Given the description of an element on the screen output the (x, y) to click on. 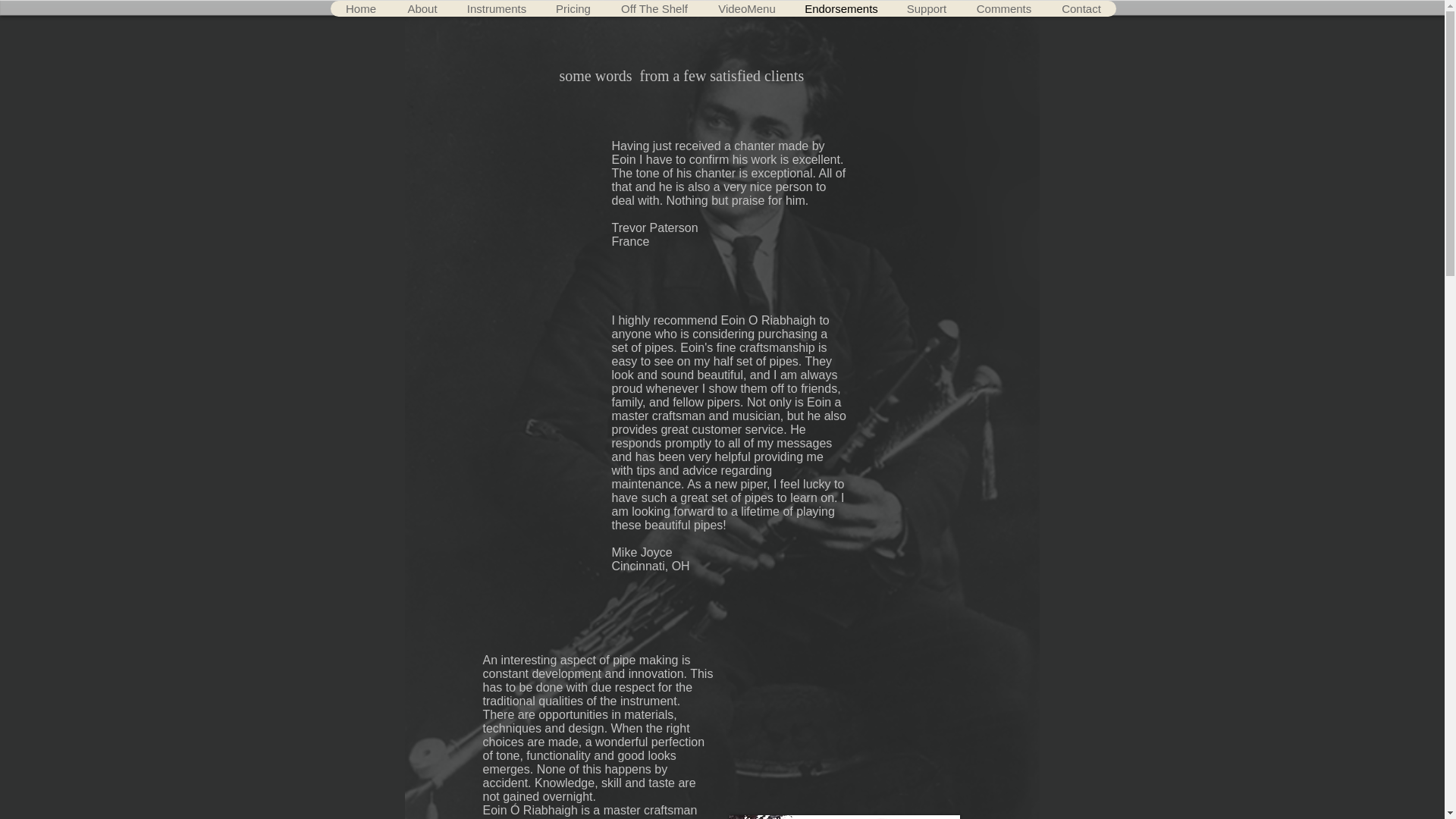
Support (925, 8)
About (421, 8)
VideoMenu (745, 8)
Pricing (572, 8)
Comments (1002, 8)
Home (360, 8)
Contact (1080, 8)
Instruments (496, 8)
Off The Shelf (653, 8)
Endorsements (840, 8)
